Given the description of an element on the screen output the (x, y) to click on. 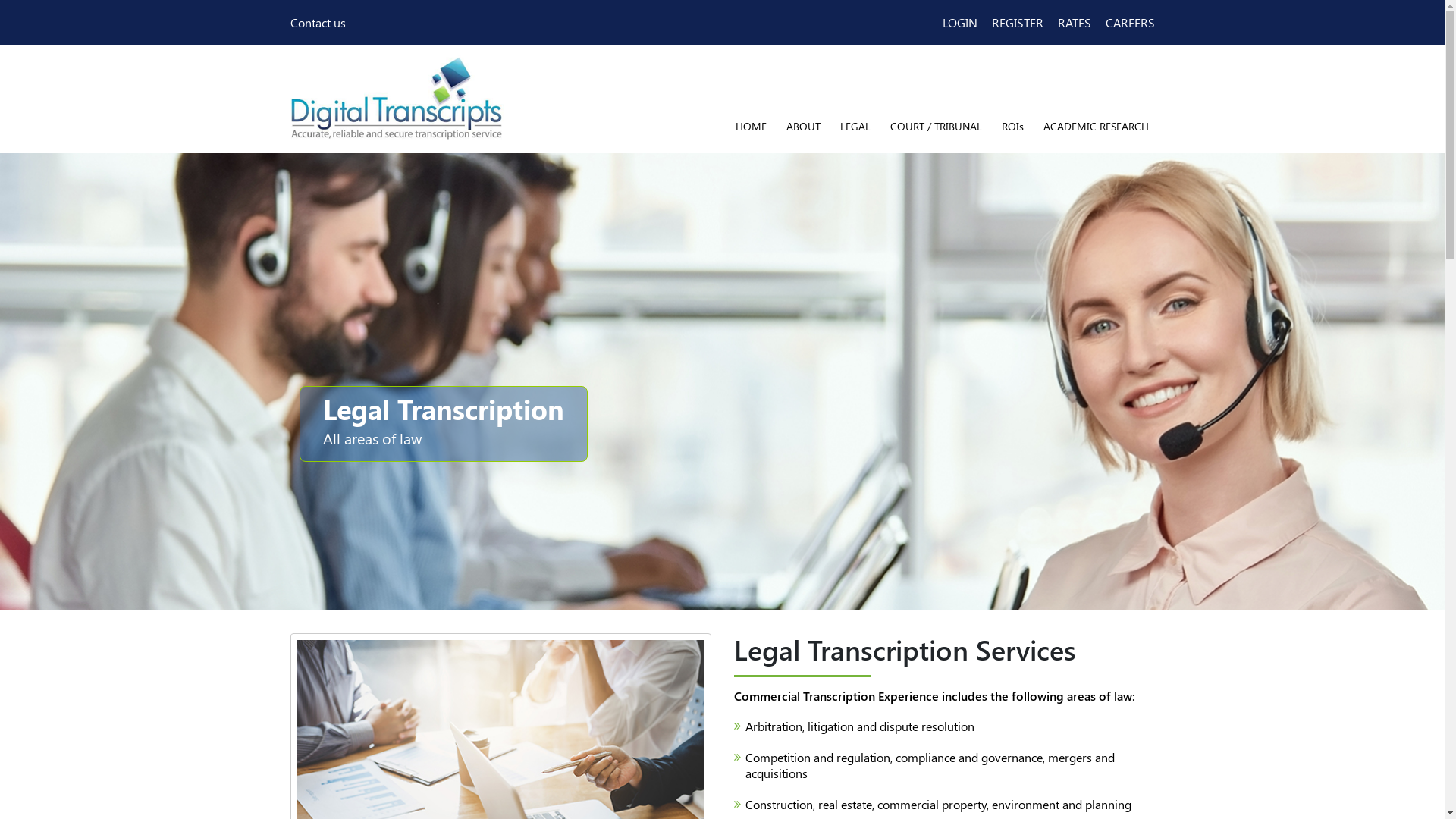
HOME Element type: text (750, 126)
ABOUT Element type: text (802, 126)
LEGAL Element type: text (855, 126)
LOGIN Element type: text (958, 22)
COURT / TRIBUNAL Element type: text (936, 126)
ROIs Element type: text (1011, 126)
REGISTER Element type: text (1017, 22)
Contact us Element type: text (317, 22)
CAREERS Element type: text (1129, 22)
RATES Element type: text (1073, 22)
ACADEMIC RESEARCH Element type: text (1095, 126)
